Given the description of an element on the screen output the (x, y) to click on. 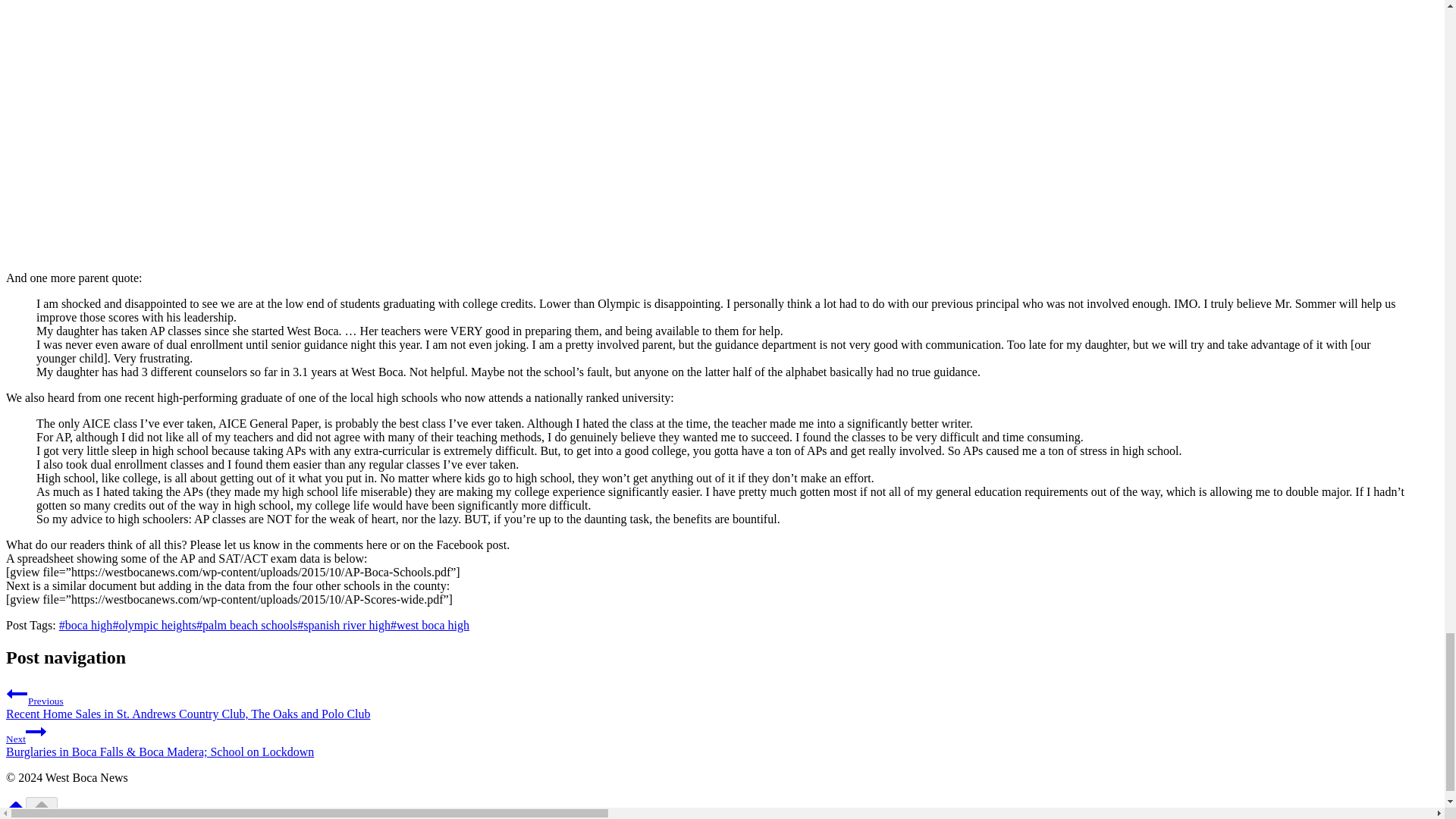
palm beach schools (246, 625)
Continue (36, 731)
west boca high (429, 625)
olympic heights (154, 625)
spanish river high (343, 625)
Previous (16, 693)
boca high (86, 625)
